Given the description of an element on the screen output the (x, y) to click on. 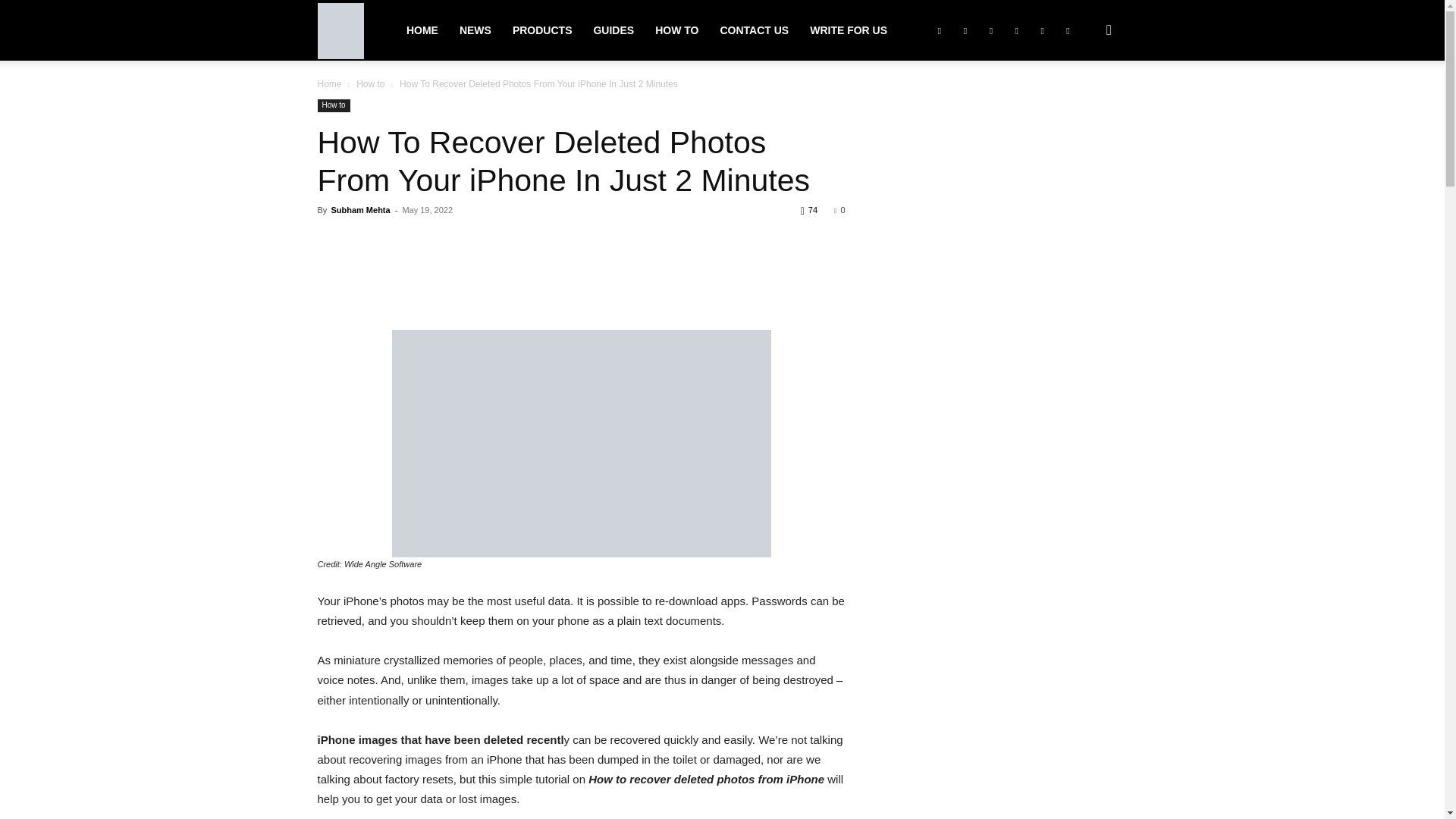
Pinterest (1016, 30)
Instagram (964, 30)
Electronics Monk (339, 30)
Twitter (1042, 30)
Facebook (939, 30)
Youtube (1068, 30)
Linkedin (991, 30)
